Given the description of an element on the screen output the (x, y) to click on. 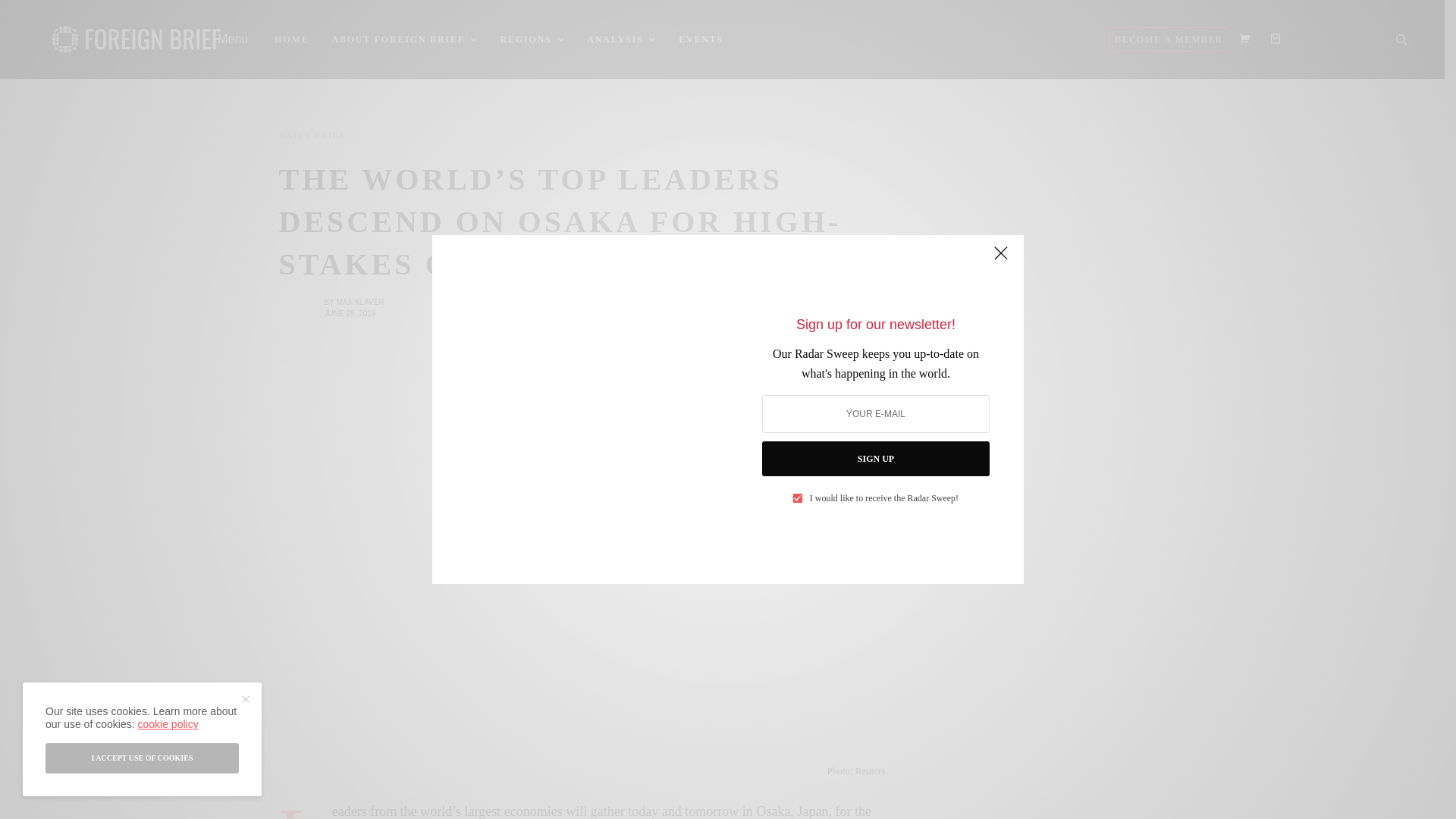
SIGN UP (875, 458)
Posts by Max Klaver (360, 302)
ABOUT FOREIGN BRIEF (404, 39)
MAX KLAVER (360, 302)
Foreign Brief (135, 39)
BECOME A MEMBER (1168, 39)
DAILY BRIEF (312, 135)
